Given the description of an element on the screen output the (x, y) to click on. 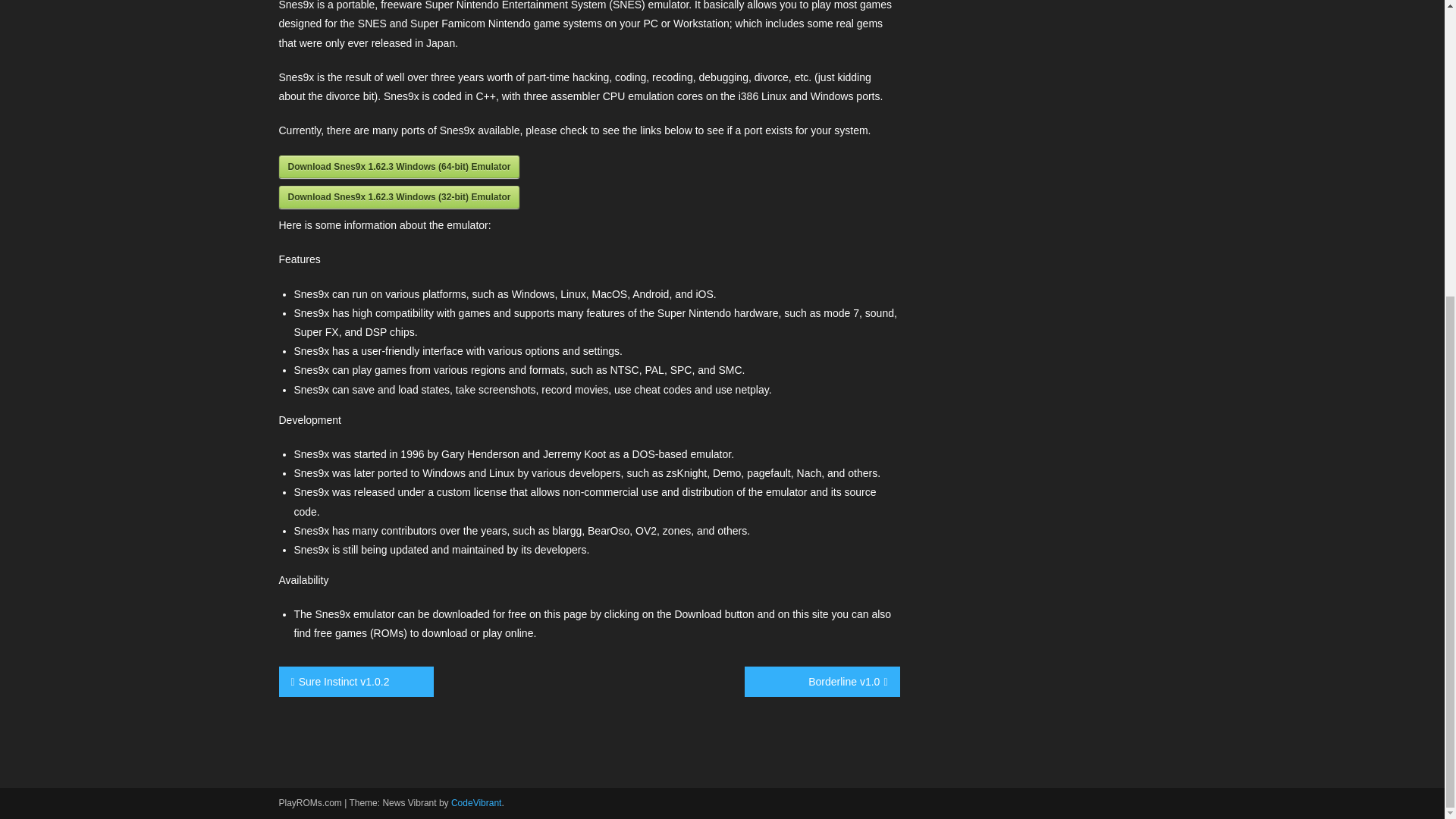
Borderline v1.0 (821, 681)
Sure Instinct v1.0.2 (356, 681)
CodeVibrant (476, 802)
